Given the description of an element on the screen output the (x, y) to click on. 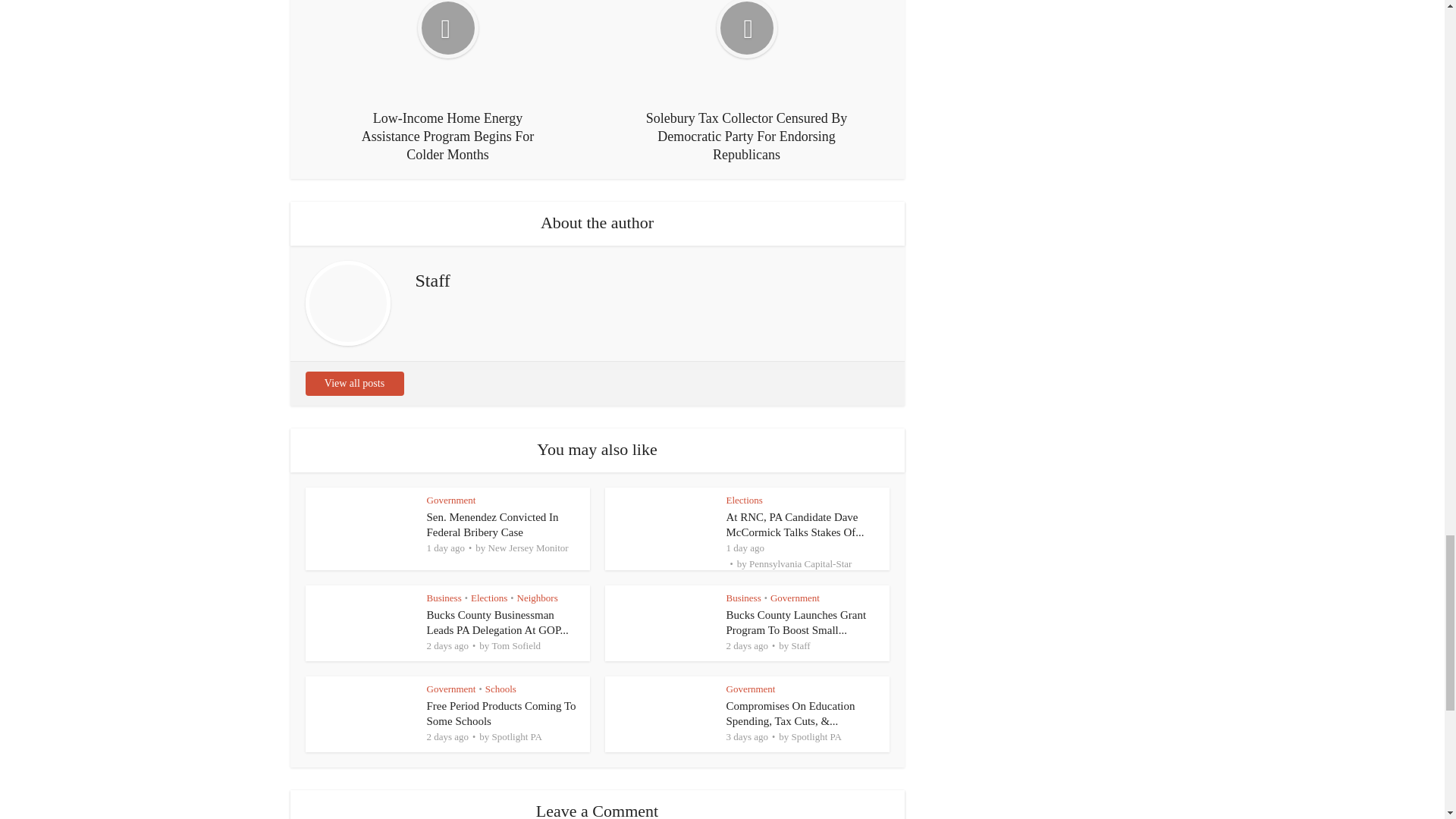
Elections (744, 500)
View all posts (353, 383)
Business (443, 597)
Free Period Products Coming To Some Schools (500, 713)
At RNC, PA Candidate Dave McCormick Talks Stakes Of Election (795, 524)
At RNC, PA Candidate Dave McCormick Talks Stakes Of... (795, 524)
Sen. Menendez Convicted In Federal Bribery Case (491, 524)
Bucks County Businessman Leads PA Delegation At GOP... (496, 622)
Neighbors (536, 597)
New Jersey Monitor (528, 547)
Government (451, 500)
Elections (488, 597)
